Given the description of an element on the screen output the (x, y) to click on. 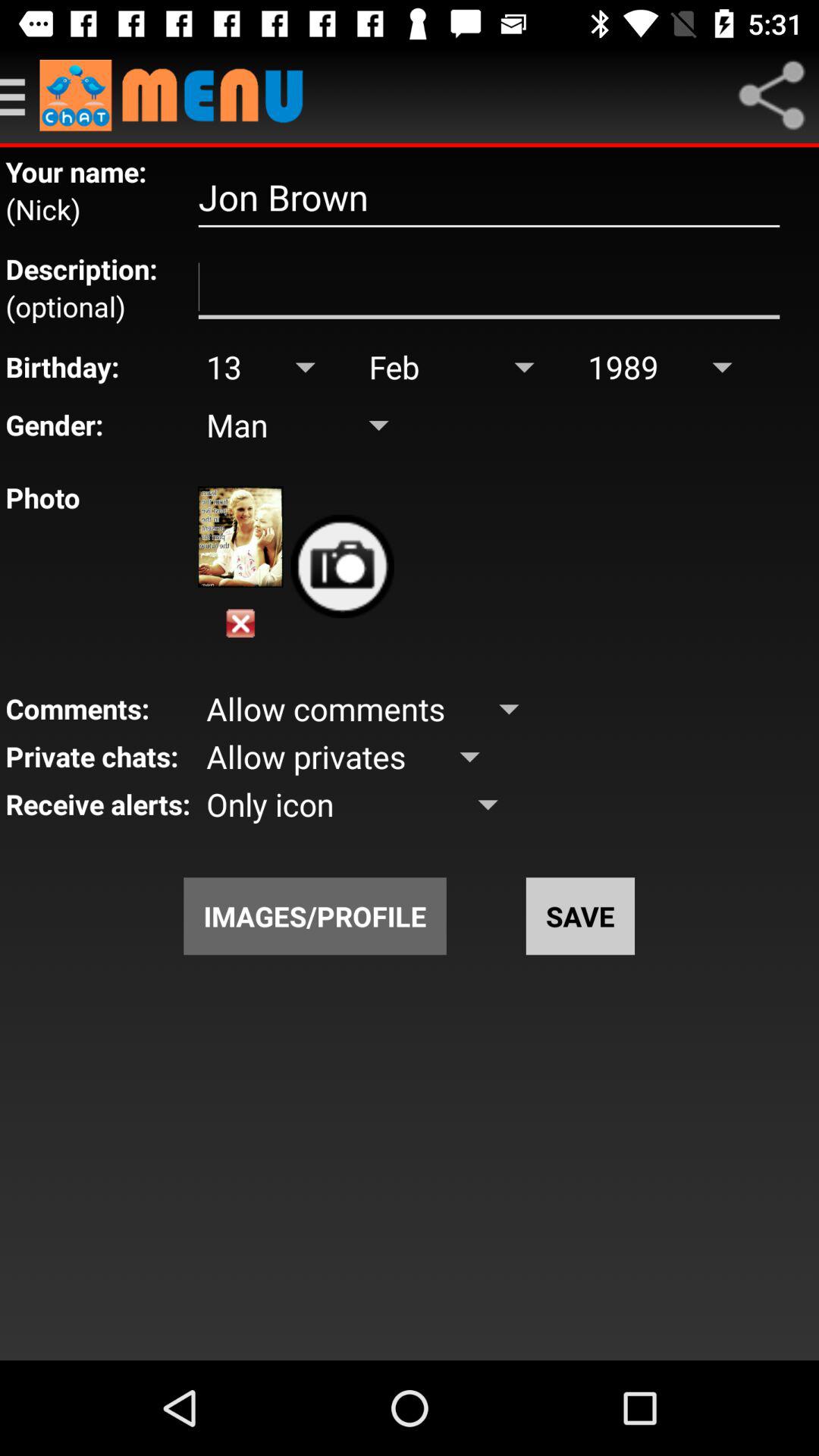
go to home page (178, 95)
